Given the description of an element on the screen output the (x, y) to click on. 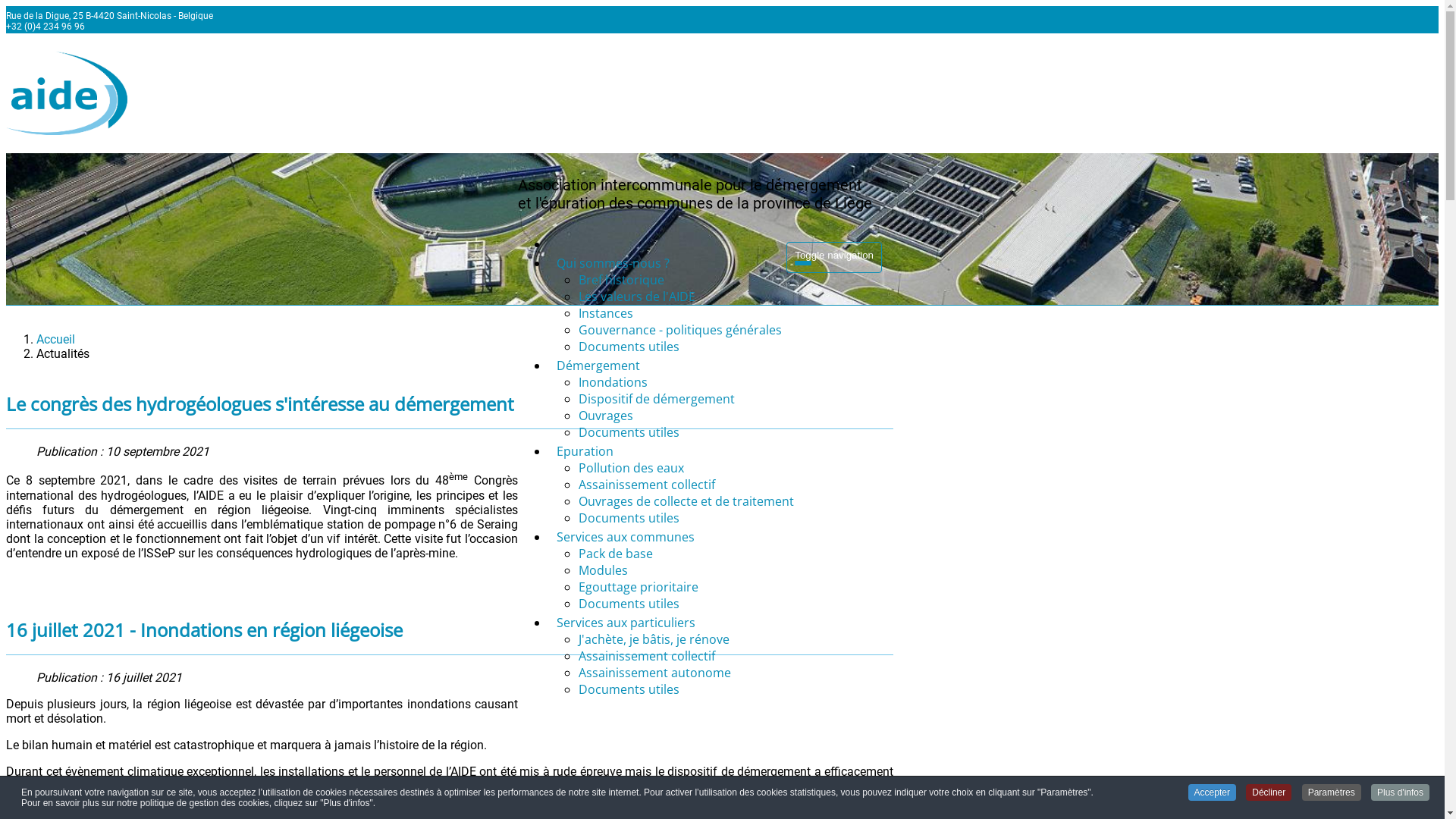
Toggle navigation Element type: text (833, 257)
Assainissement autonome Element type: text (654, 672)
Egouttage prioritaire Element type: text (638, 586)
Refuser tous les cookies Element type: text (727, 593)
Enregistrer Element type: text (896, 593)
Accepter Element type: text (1212, 792)
Ouvrages Element type: text (605, 415)
Documents utiles Element type: text (628, 603)
Assainissement collectif Element type: text (646, 484)
Services aux particuliers Element type: text (625, 622)
Ouvrages de collecte et de traitement Element type: text (685, 500)
Documents utiles Element type: text (628, 346)
1 Element type: text (679, 315)
Documents utiles Element type: text (628, 688)
Epuration Element type: text (584, 450)
Bref historique Element type: text (621, 279)
Pack de base Element type: text (615, 553)
Qui sommes-nous ? Element type: text (612, 262)
Les valeurs de l'AIDE Element type: text (636, 296)
Instances Element type: text (605, 312)
Autoriser tous les cookies Element type: text (558, 593)
Pollution des eaux Element type: text (631, 467)
Accueil Element type: text (55, 339)
Modules Element type: text (602, 569)
Assainissement collectif Element type: text (646, 655)
Plus d'infos Element type: text (1400, 792)
Documents utiles Element type: text (628, 517)
Services aux communes Element type: text (625, 536)
Inondations Element type: text (612, 381)
Documents utiles Element type: text (628, 431)
